Given the description of an element on the screen output the (x, y) to click on. 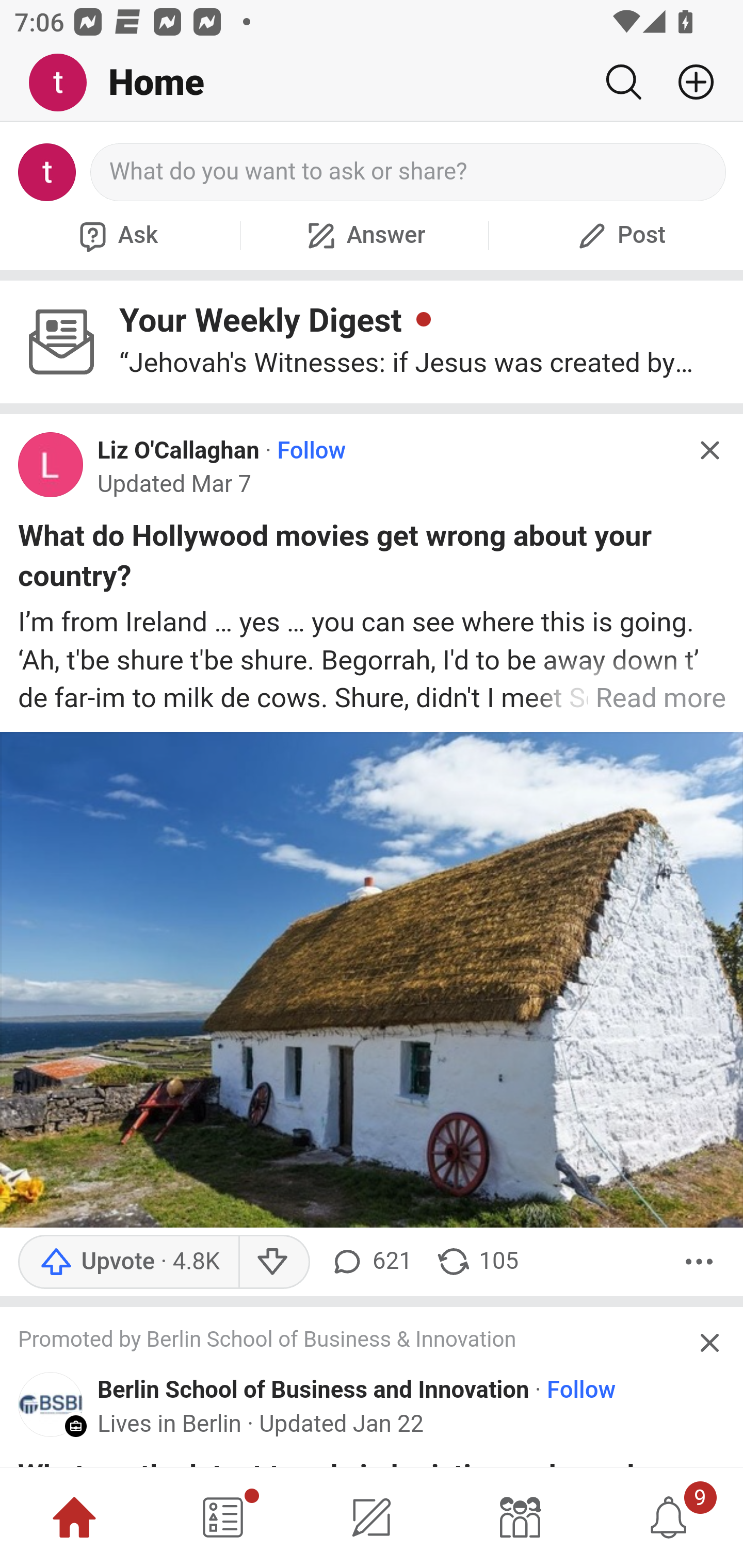
Me Home Search Add (371, 82)
Me (64, 83)
Search (623, 82)
Add (688, 82)
9 (668, 1517)
